Given the description of an element on the screen output the (x, y) to click on. 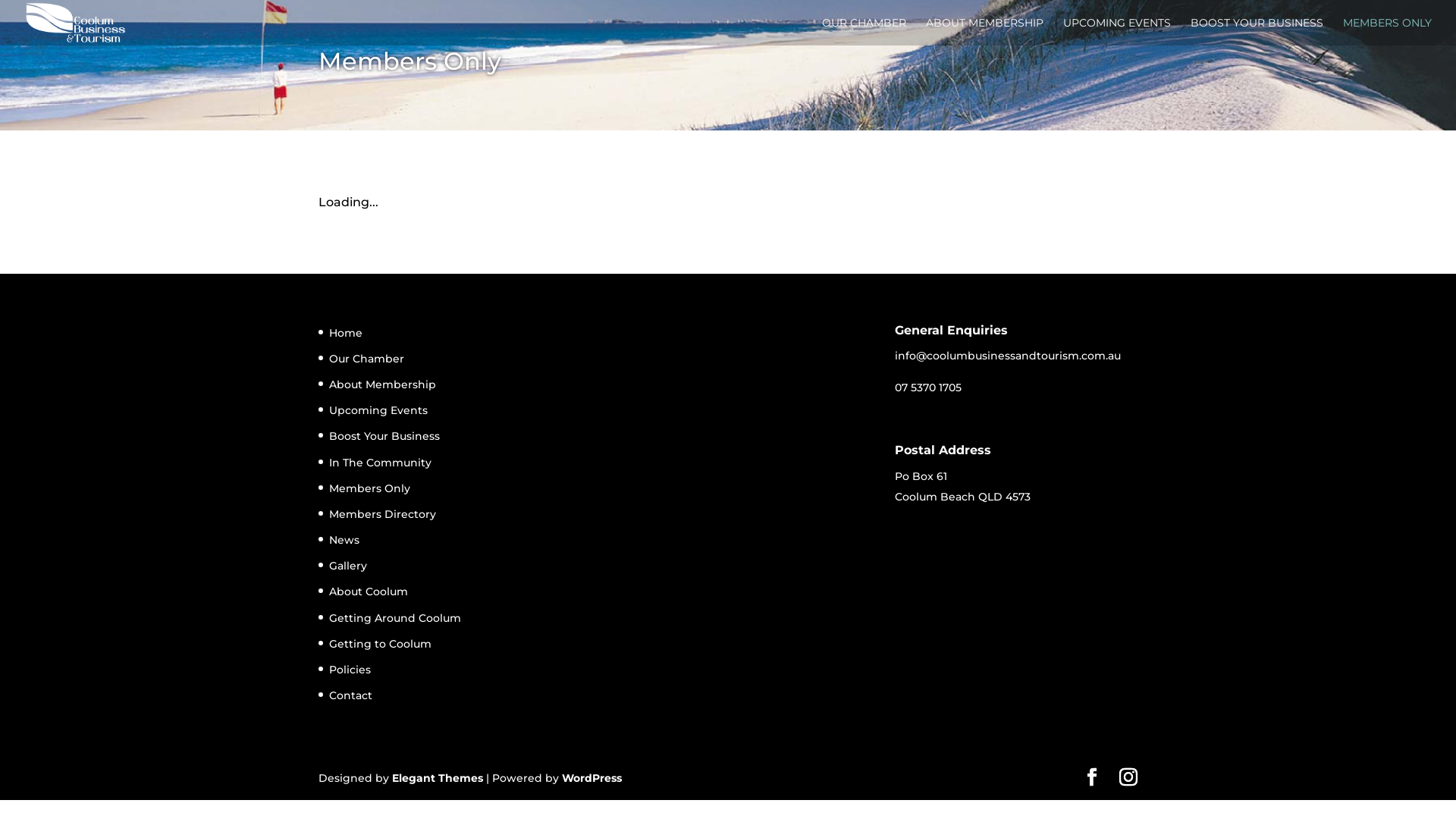
Gallery Element type: text (348, 565)
In The Community Element type: text (380, 462)
Upcoming Events Element type: text (378, 410)
WordPress Element type: text (591, 777)
Members Only Element type: text (369, 488)
Home Element type: text (345, 332)
News Element type: text (344, 539)
OUR CHAMBER Element type: text (864, 31)
ABOUT MEMBERSHIP Element type: text (984, 31)
Our Chamber Element type: text (366, 358)
About Coolum Element type: text (368, 591)
Getting Around Coolum Element type: text (395, 617)
About Membership Element type: text (382, 384)
Contact Element type: text (350, 695)
Policies Element type: text (349, 669)
Boost Your Business Element type: text (384, 435)
BOOST YOUR BUSINESS Element type: text (1256, 31)
MEMBERS ONLY Element type: text (1387, 31)
Members Directory Element type: text (382, 513)
info@coolumbusinessandtourism.com.au Element type: text (1007, 355)
UPCOMING EVENTS Element type: text (1116, 31)
Getting to Coolum Element type: text (380, 643)
Elegant Themes Element type: text (437, 777)
